Given the description of an element on the screen output the (x, y) to click on. 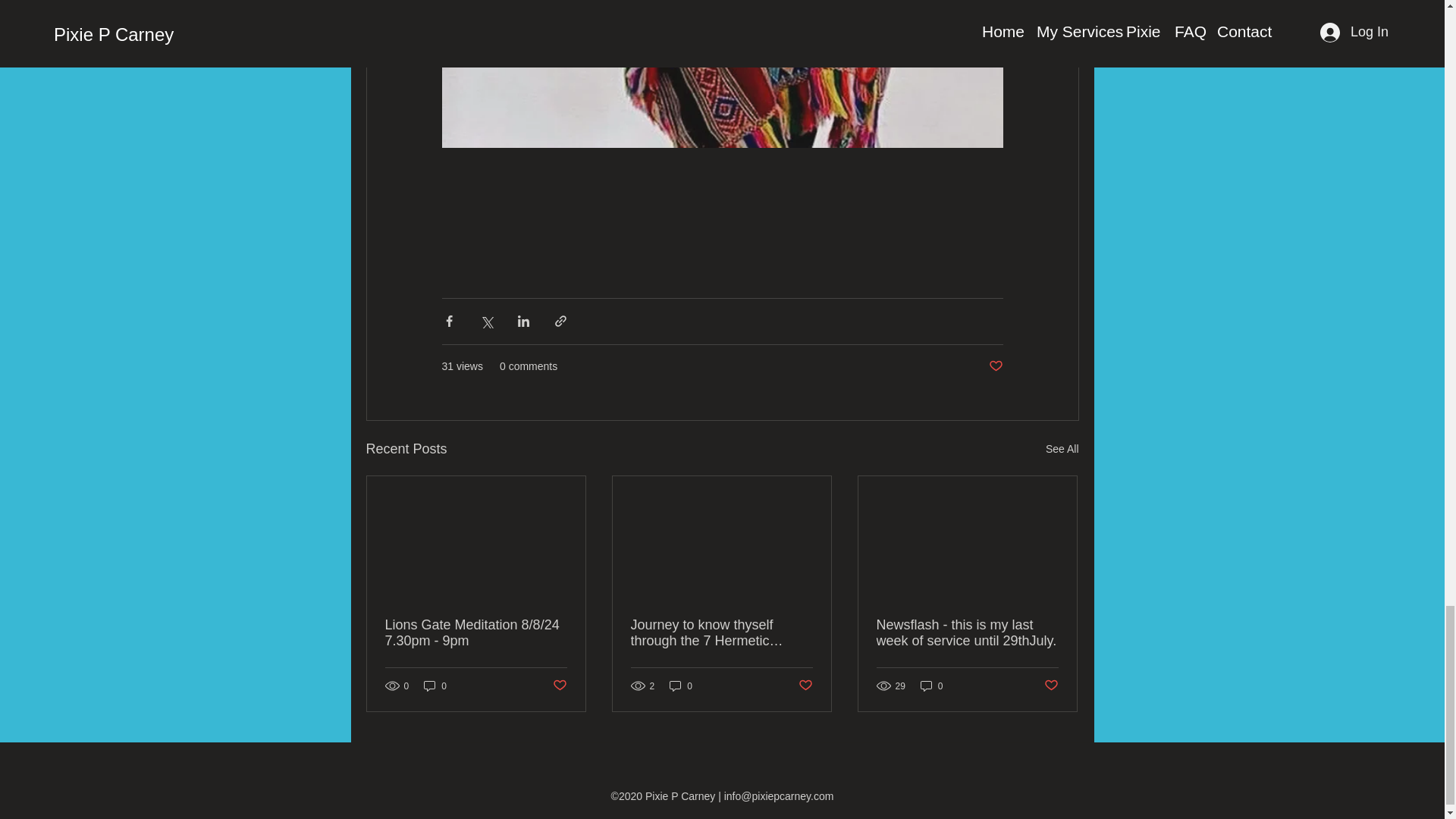
Journey to know thyself through the 7 Hermetic Principles (721, 633)
See All (1061, 449)
Post not marked as liked (804, 685)
0 (435, 685)
Post not marked as liked (1050, 685)
Post not marked as liked (995, 366)
Newsflash - this is my last week of service until 29thJuly. (967, 633)
Post not marked as liked (558, 685)
0 (681, 685)
0 (931, 685)
